Given the description of an element on the screen output the (x, y) to click on. 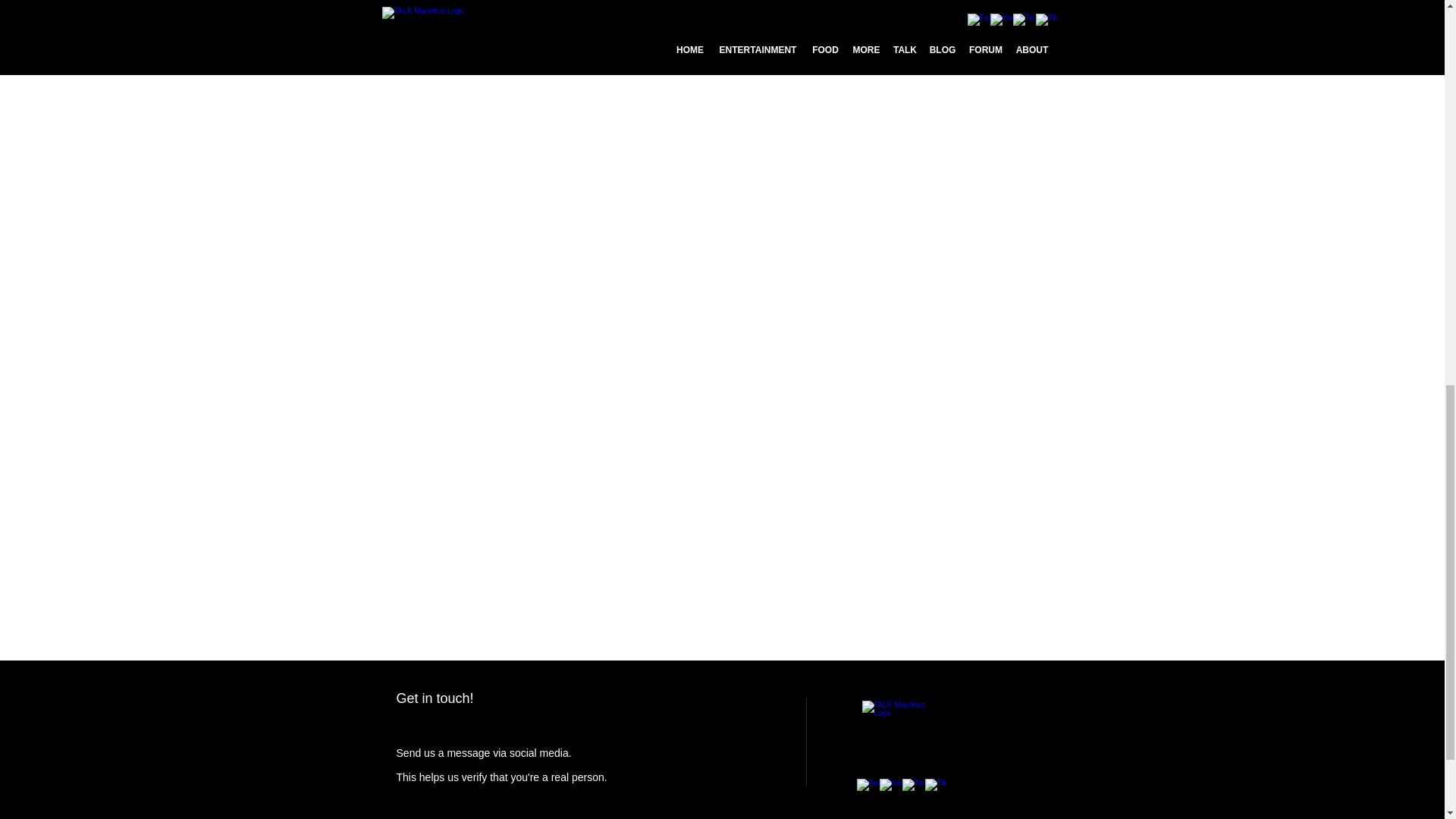
S (399, 752)
